Given the description of an element on the screen output the (x, y) to click on. 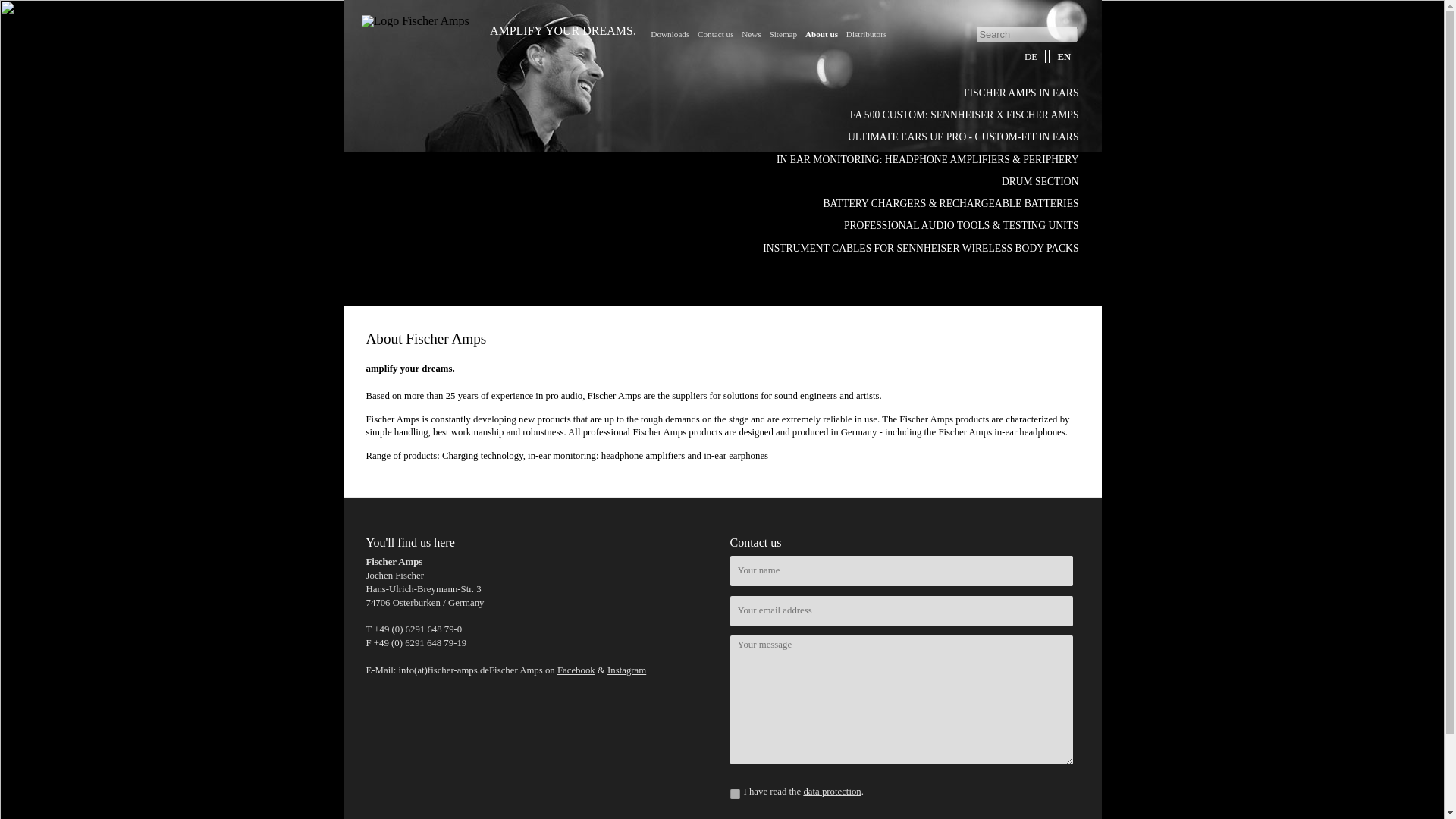
Fischer Amps In Ears (1020, 92)
FISCHER AMPS - amplifiy your dreams. (665, 312)
News (750, 33)
FISCHER AMPS IN EARS (1020, 92)
News (750, 33)
ULTIMATE EARS UE PRO - CUSTOM-FIT IN EARS (962, 136)
FA 500 CUSTOM: SENNHEISER X FISCHER AMPS (964, 114)
